Given the description of an element on the screen output the (x, y) to click on. 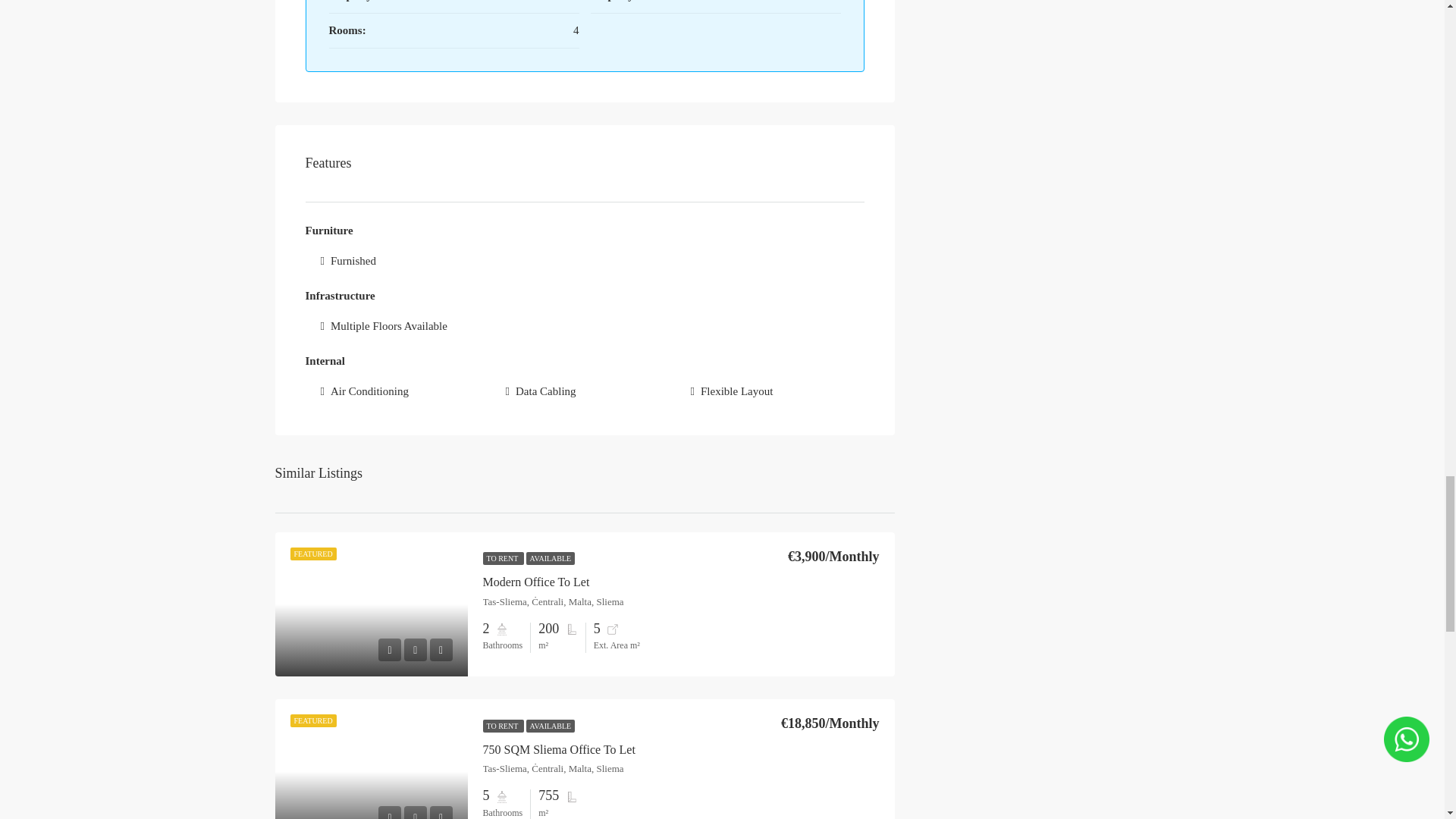
Preview (389, 812)
Preview (389, 649)
Favourite (415, 649)
Favourite (415, 812)
Add to Compare (440, 649)
Add to Compare (440, 812)
